Given the description of an element on the screen output the (x, y) to click on. 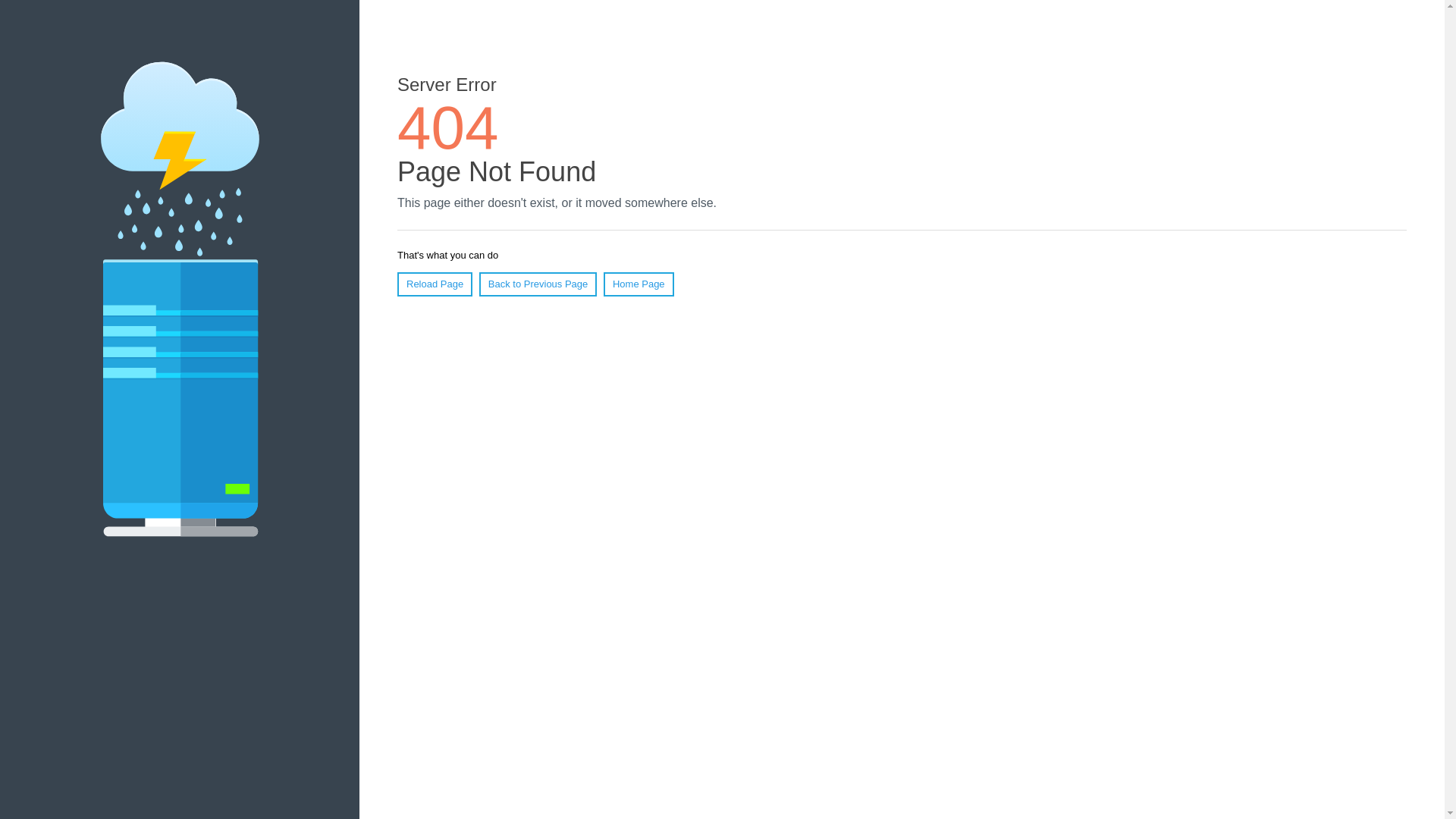
Reload Page Element type: text (434, 284)
Home Page Element type: text (638, 284)
Back to Previous Page Element type: text (538, 284)
